Given the description of an element on the screen output the (x, y) to click on. 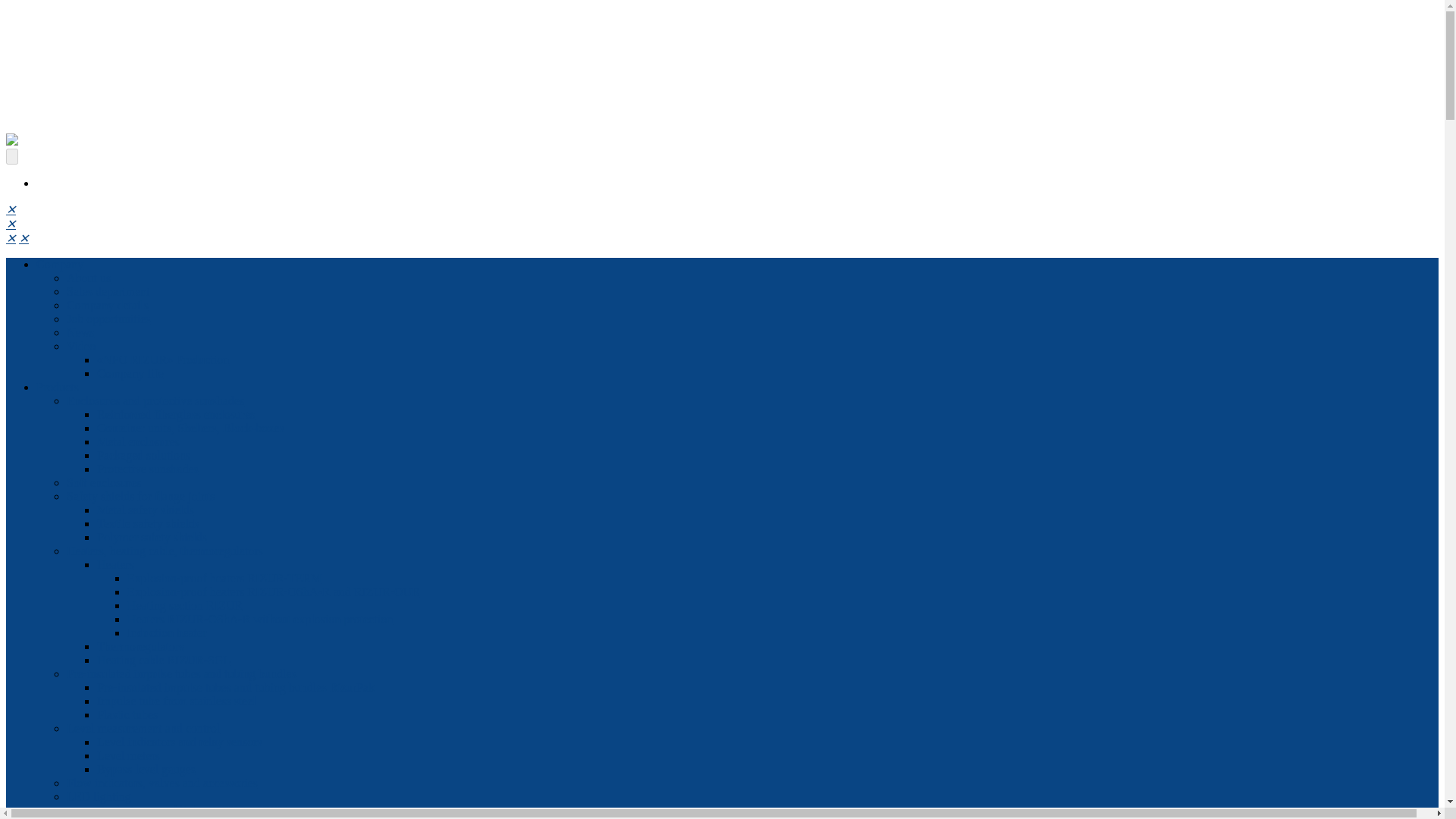
Packaged solutions (143, 454)
Textile safety shields (148, 522)
Heaters RIZUR-OShA-R without explosion protection (260, 618)
News (80, 332)
Safety shields for flange joints (140, 495)
Metal safety shields (145, 509)
Explosion-proof heaters RIZUR-OShA-R and RIZUR-OUR (274, 591)
Protective sunshades (147, 468)
Company details (107, 305)
Company (59, 264)
Heaters (115, 563)
Explosion-proof heaters RIZUR-TERM (224, 577)
Heaters, heating cable, thermoregulators (164, 550)
Thermoregulators (140, 645)
About us (88, 277)
